Given the description of an element on the screen output the (x, y) to click on. 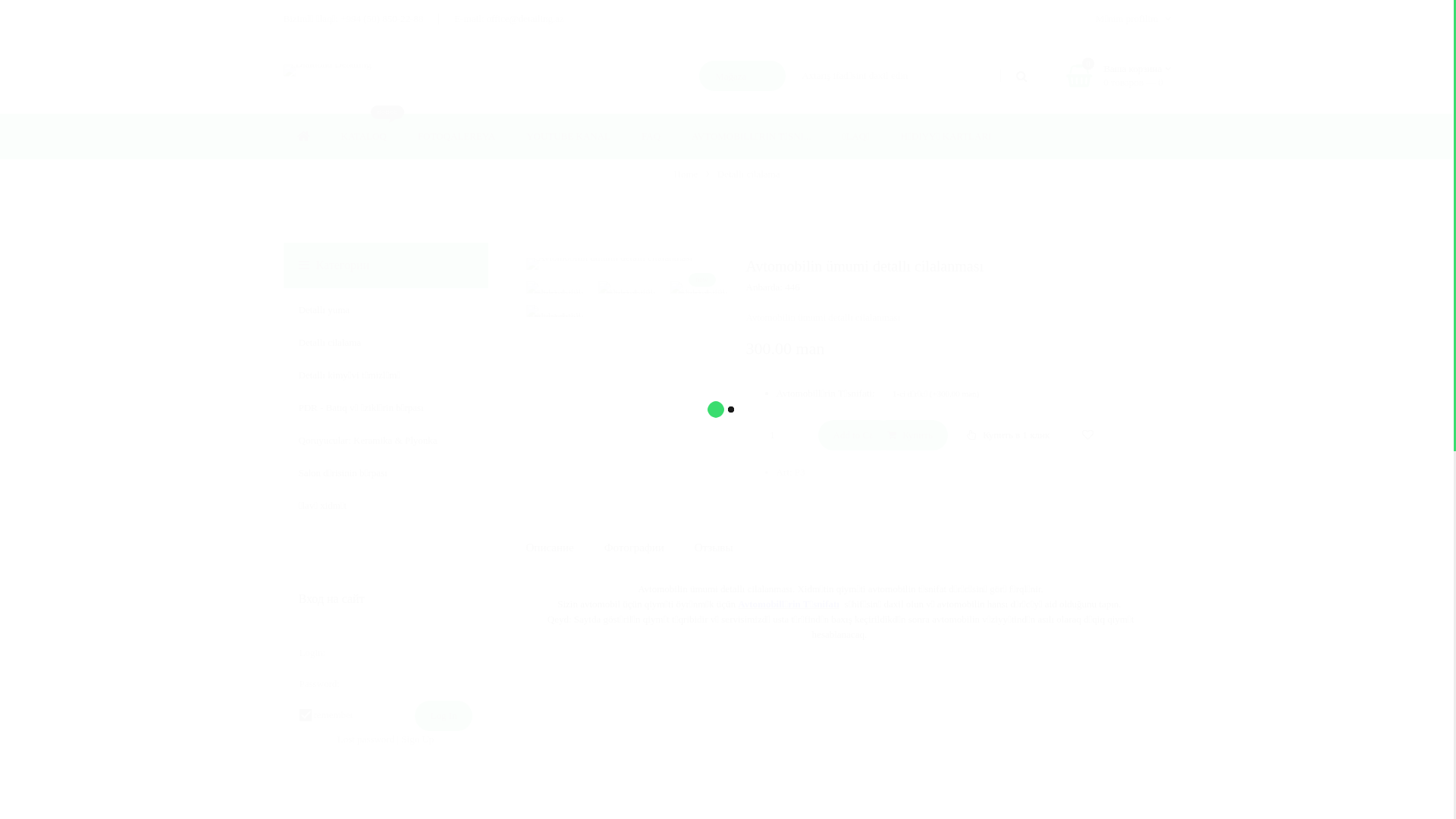
+994 (50) 850-22-88 Element type: text (381, 18)
FAQ Element type: text (650, 136)
Qoruyucular: Keramika & Plyonka Element type: text (367, 439)
Sign Up Element type: text (417, 738)
FOTOQALEREYA Element type: text (456, 136)
Log In Element type: text (442, 715)
Lost password Element type: text (365, 738)
Home Element type: text (687, 173)
KATALOQ Element type: text (363, 136)
office@detailing.az Element type: text (525, 18)
YOUTUBE KANAL Element type: text (568, 136)
Add to Cart Element type: text (856, 435)
Add to Wish List Element type: hover (1087, 435)
